Given the description of an element on the screen output the (x, y) to click on. 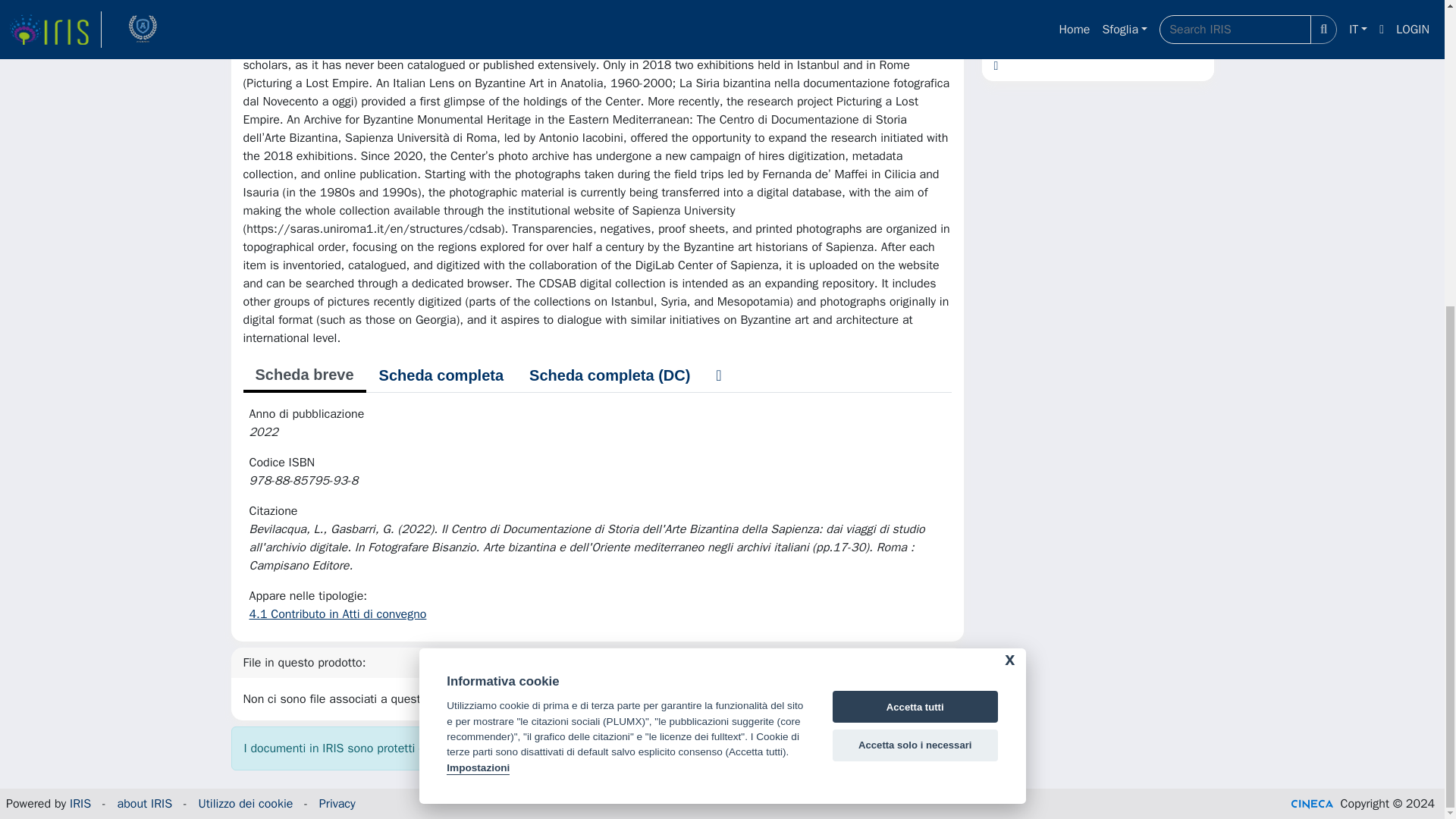
4.1 Contributo in Atti di convegno (337, 613)
IRIS (79, 803)
Scheda completa (441, 375)
Scheda breve (304, 376)
